Given the description of an element on the screen output the (x, y) to click on. 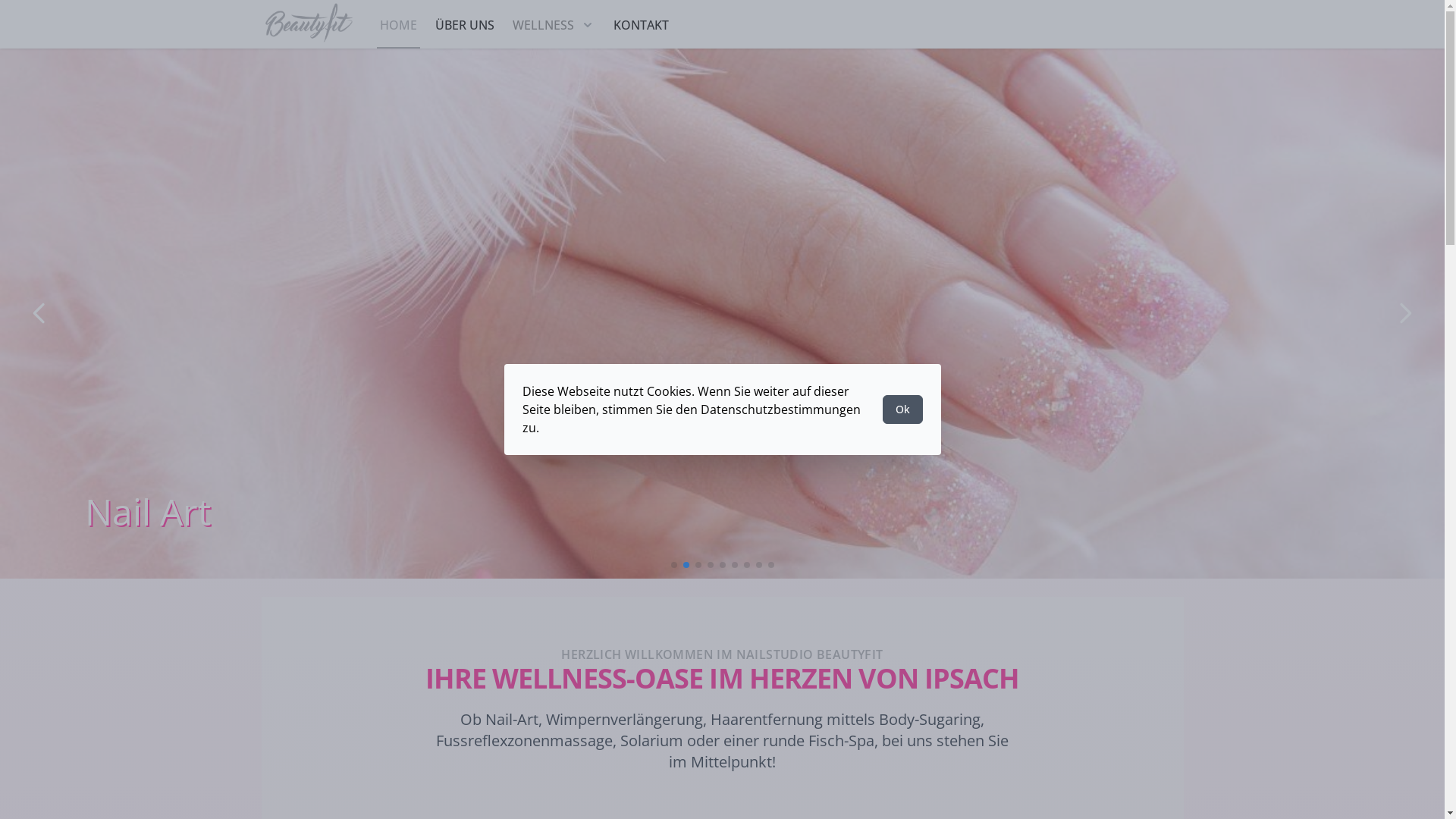
HOME Element type: text (397, 24)
WELLNESS Element type: text (553, 24)
Ok Element type: text (902, 409)
KONTAKT Element type: text (640, 24)
